Given the description of an element on the screen output the (x, y) to click on. 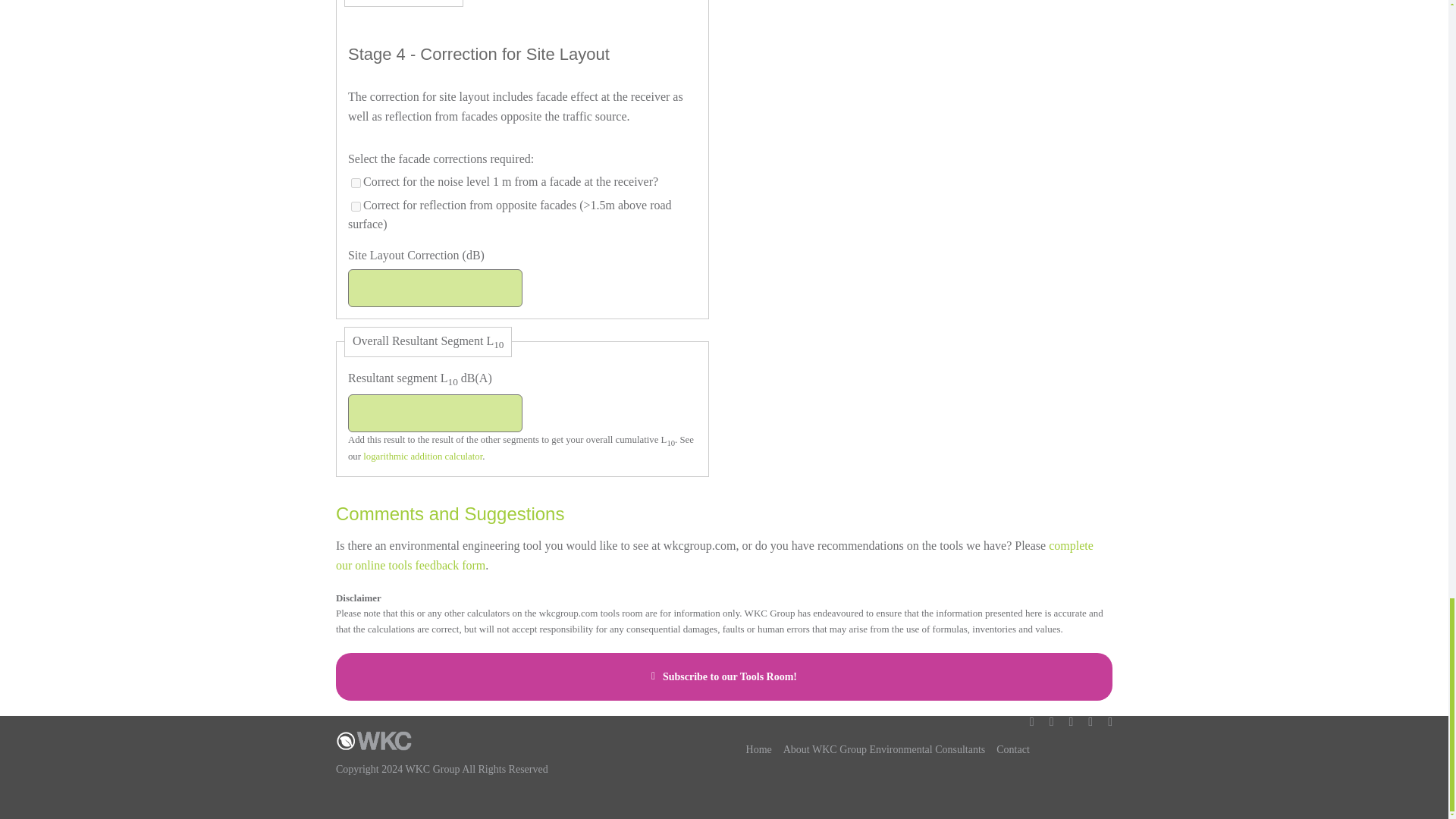
Subscribe to our Tools Room! (724, 676)
logarithmic addition calculator (421, 456)
complete our online tools feedback form (714, 554)
Subscribe to our Tools Room! (724, 683)
2.5 (355, 183)
1.5 (355, 206)
